Given the description of an element on the screen output the (x, y) to click on. 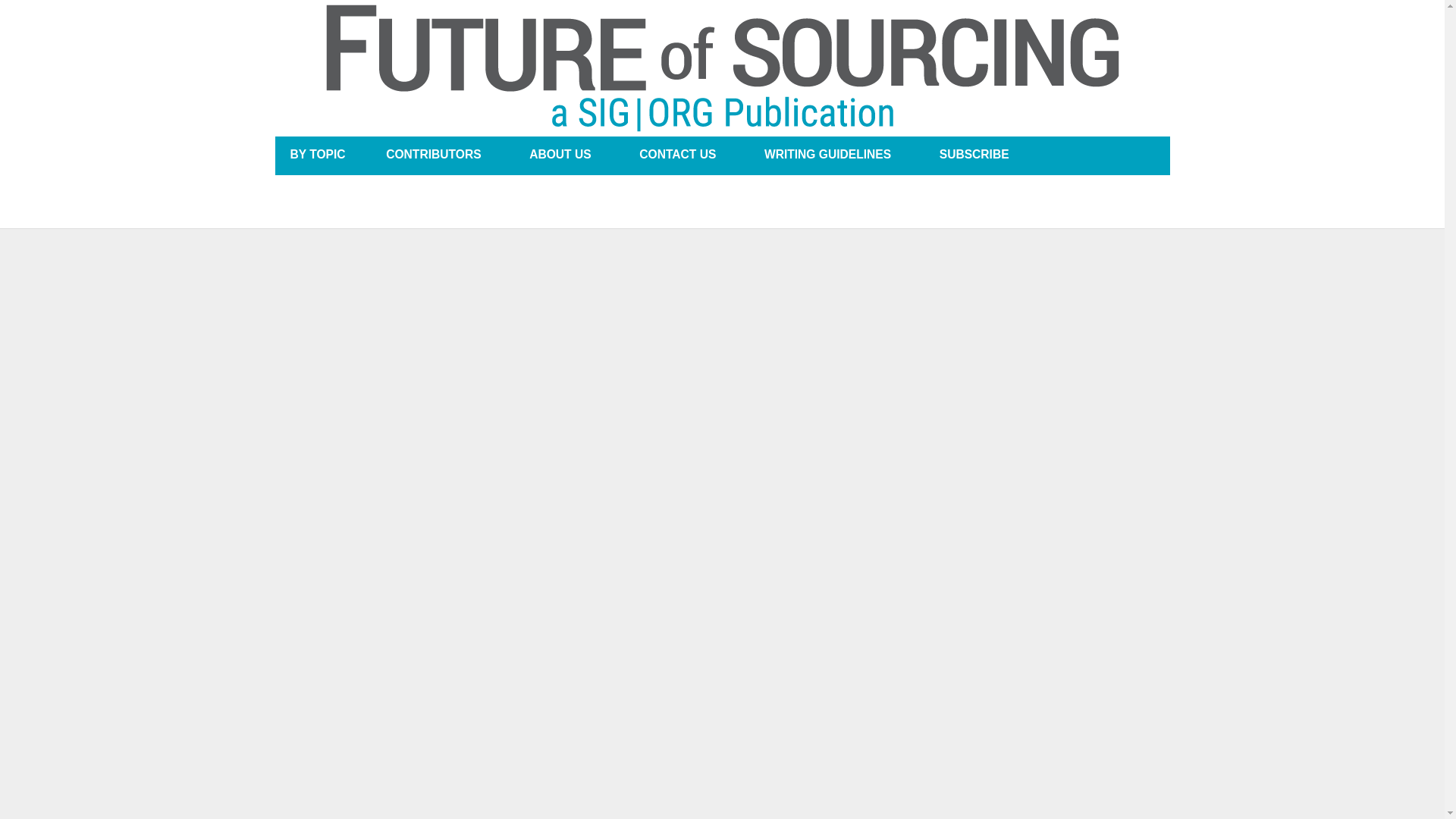
WRITING GUIDELINES (827, 154)
SUBSCRIBE (974, 154)
SEARCH (1140, 154)
CONTRIBUTORS (432, 154)
CONTACT US (676, 154)
Find out how to contribute to Future of Sourcing. (827, 154)
Skip to main content (677, 1)
ABOUT US (559, 154)
